Given the description of an element on the screen output the (x, y) to click on. 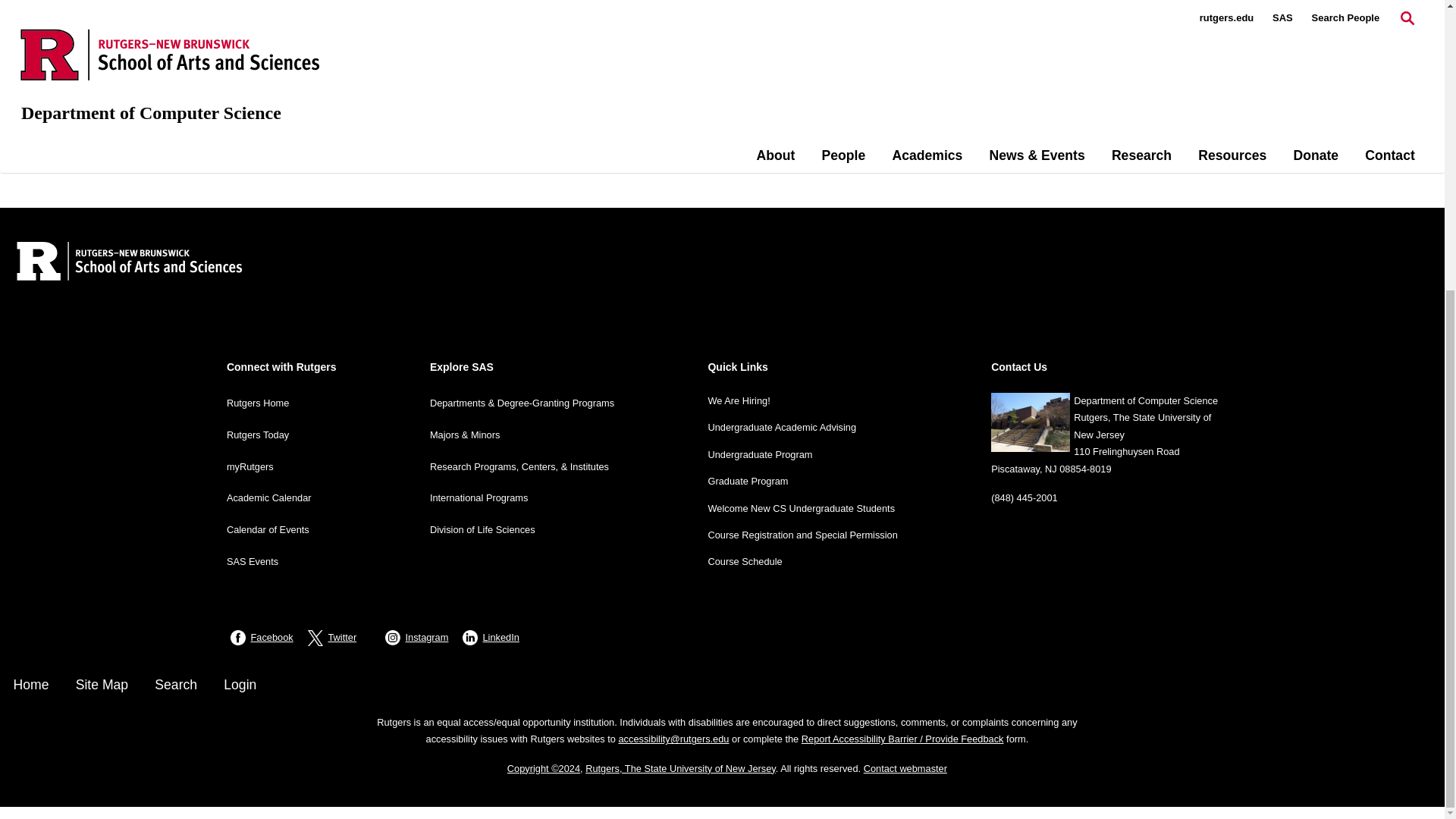
Ph.D. Alumni (280, 87)
FAQ (257, 23)
Course Synopses (293, 44)
